Given the description of an element on the screen output the (x, y) to click on. 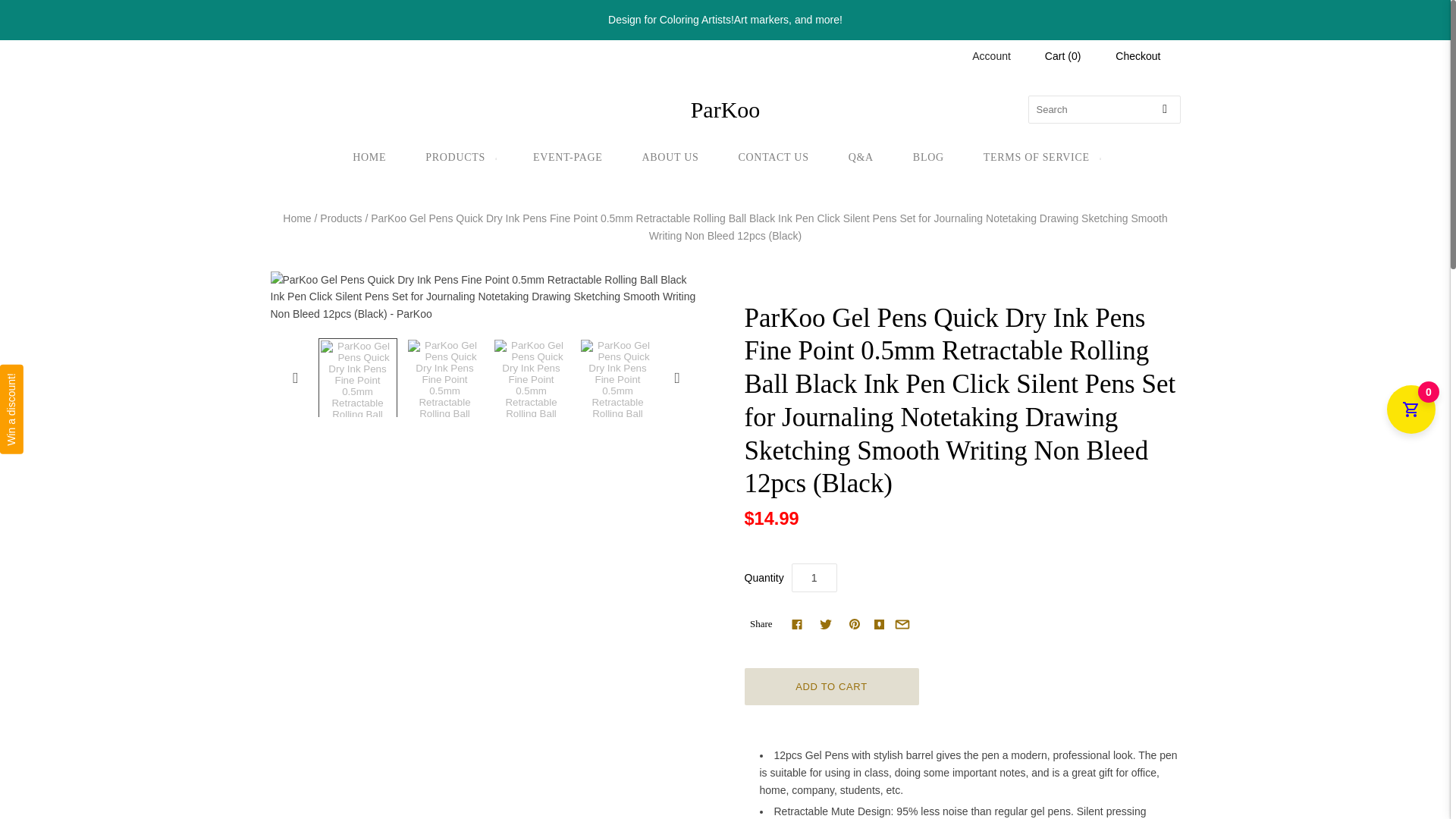
ABOUT US (671, 157)
BLOG (928, 157)
Home (296, 218)
EVENT-PAGE (568, 157)
1 (814, 577)
Checkout (1137, 56)
ParKoo (725, 109)
Add to cart (831, 686)
PRODUCTS (459, 157)
HOME (369, 157)
